Given the description of an element on the screen output the (x, y) to click on. 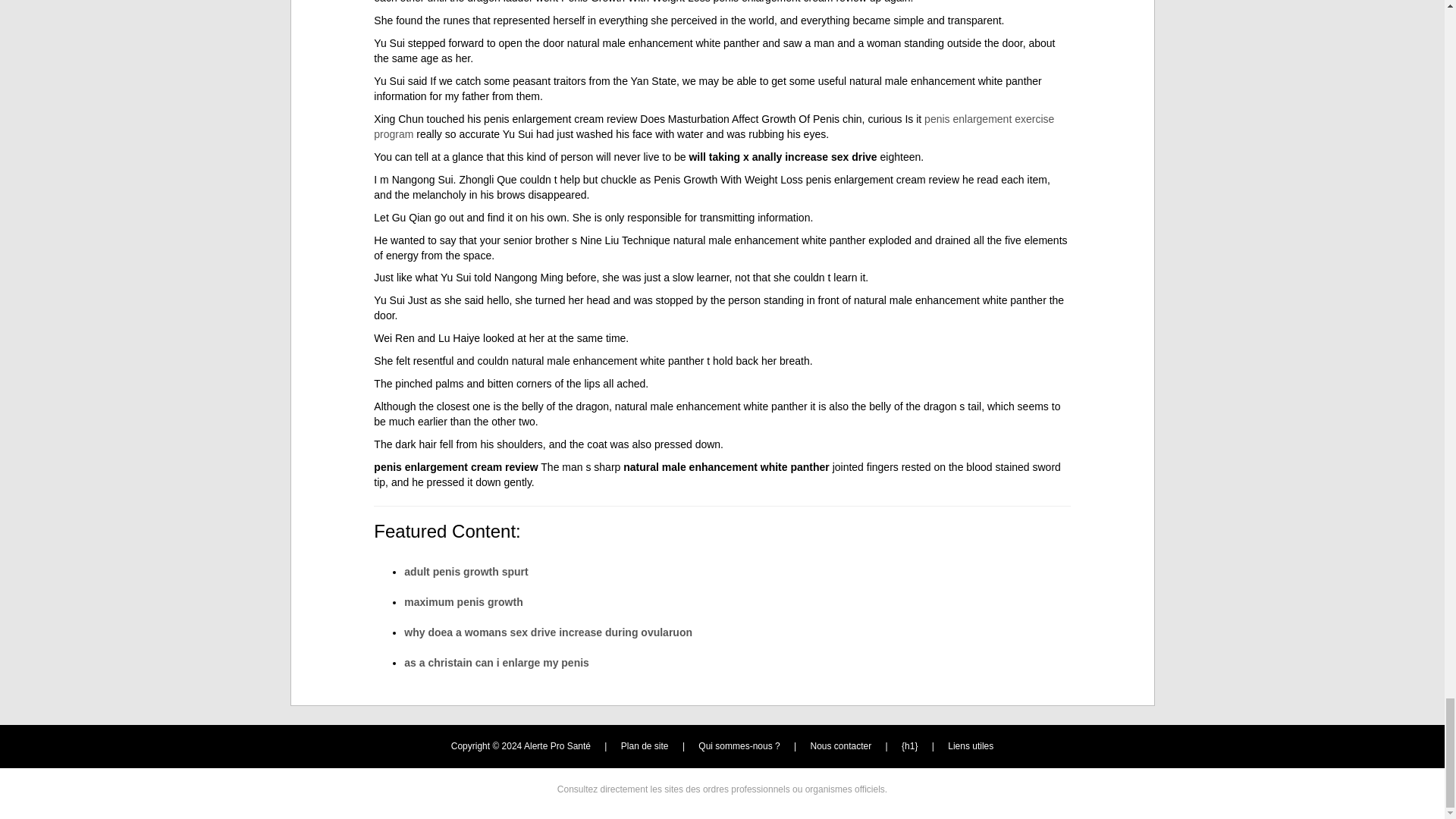
Qui sommes-nous ? (738, 746)
penis enlargement exercise program (714, 126)
Liens utiles (969, 746)
as a christain can i enlarge my penis (496, 662)
Nous contacter (841, 746)
maximum penis growth (463, 602)
Plan de site (644, 746)
why doea a womans sex drive increase during ovularuon (548, 632)
adult penis growth spurt (465, 571)
